Given the description of an element on the screen output the (x, y) to click on. 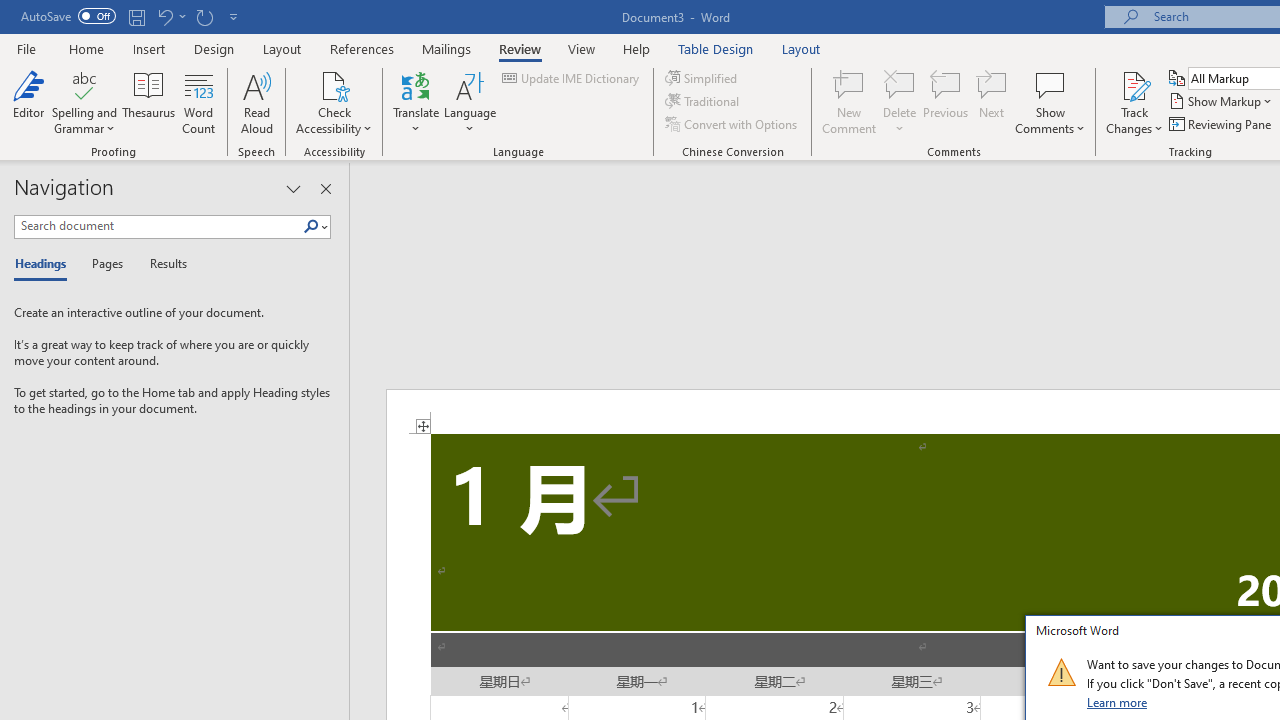
Repeat Doc Close (204, 15)
Spelling and Grammar (84, 102)
Next (991, 102)
Word Count (198, 102)
Undo Increase Indent (164, 15)
Simplified (702, 78)
Read Aloud (256, 102)
